Given the description of an element on the screen output the (x, y) to click on. 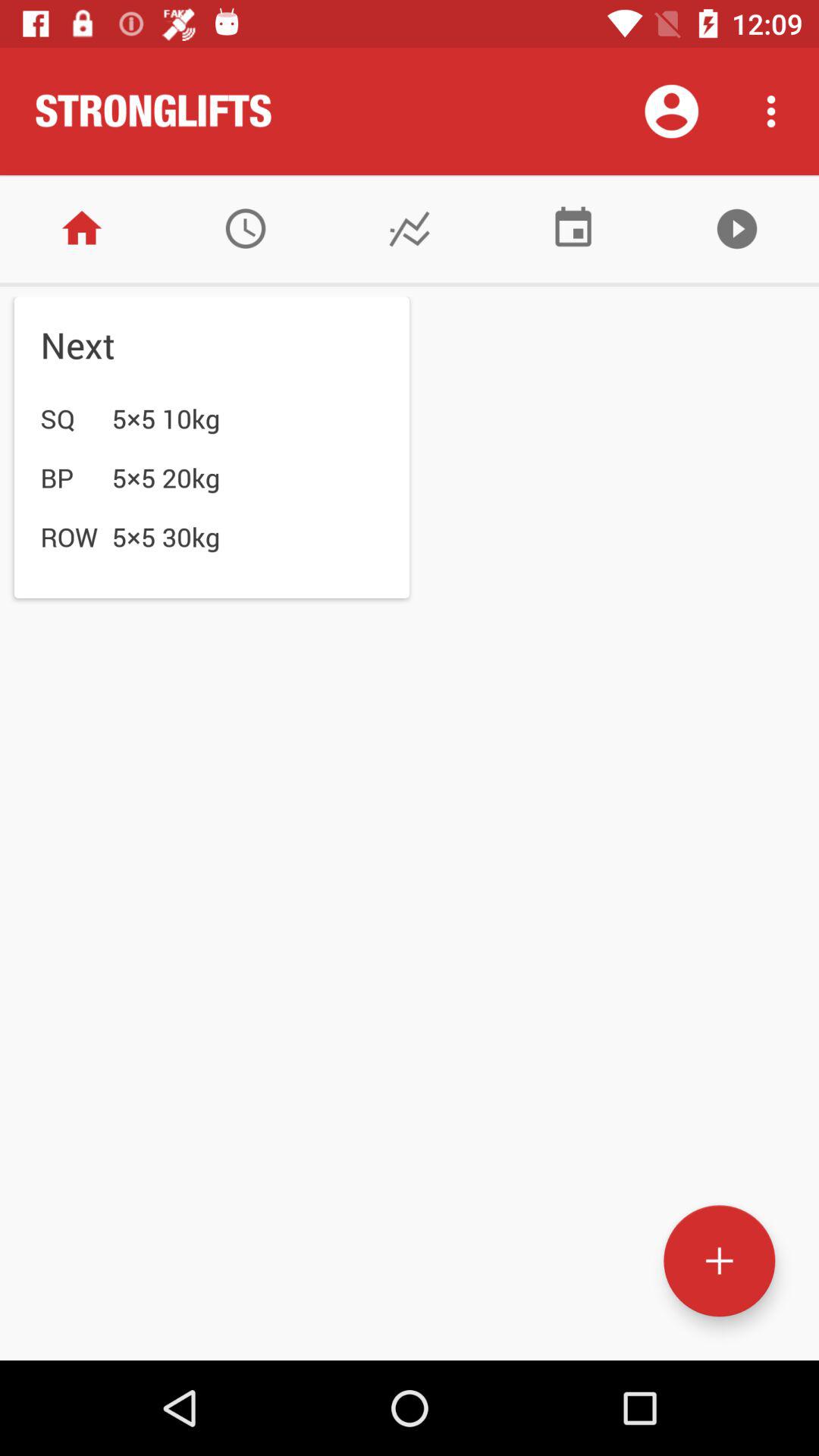
add a new entry to the list (719, 1260)
